Given the description of an element on the screen output the (x, y) to click on. 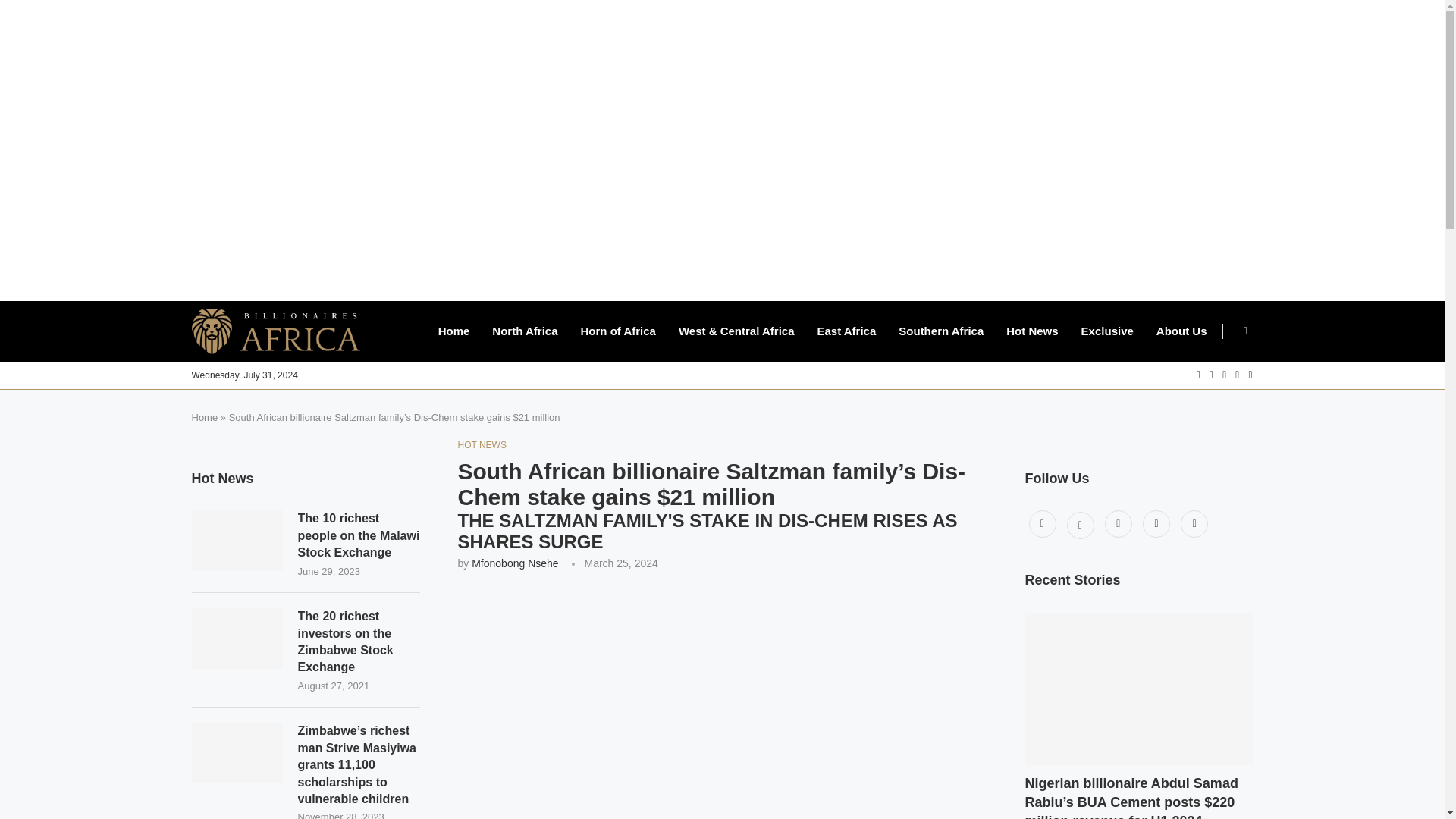
Exclusive (1107, 330)
North Africa (524, 330)
Horn of Africa (617, 330)
About Us (1181, 330)
Hot News (1032, 330)
East Africa (846, 330)
Ivan Saltzman (722, 703)
Southern Africa (941, 330)
